Given the description of an element on the screen output the (x, y) to click on. 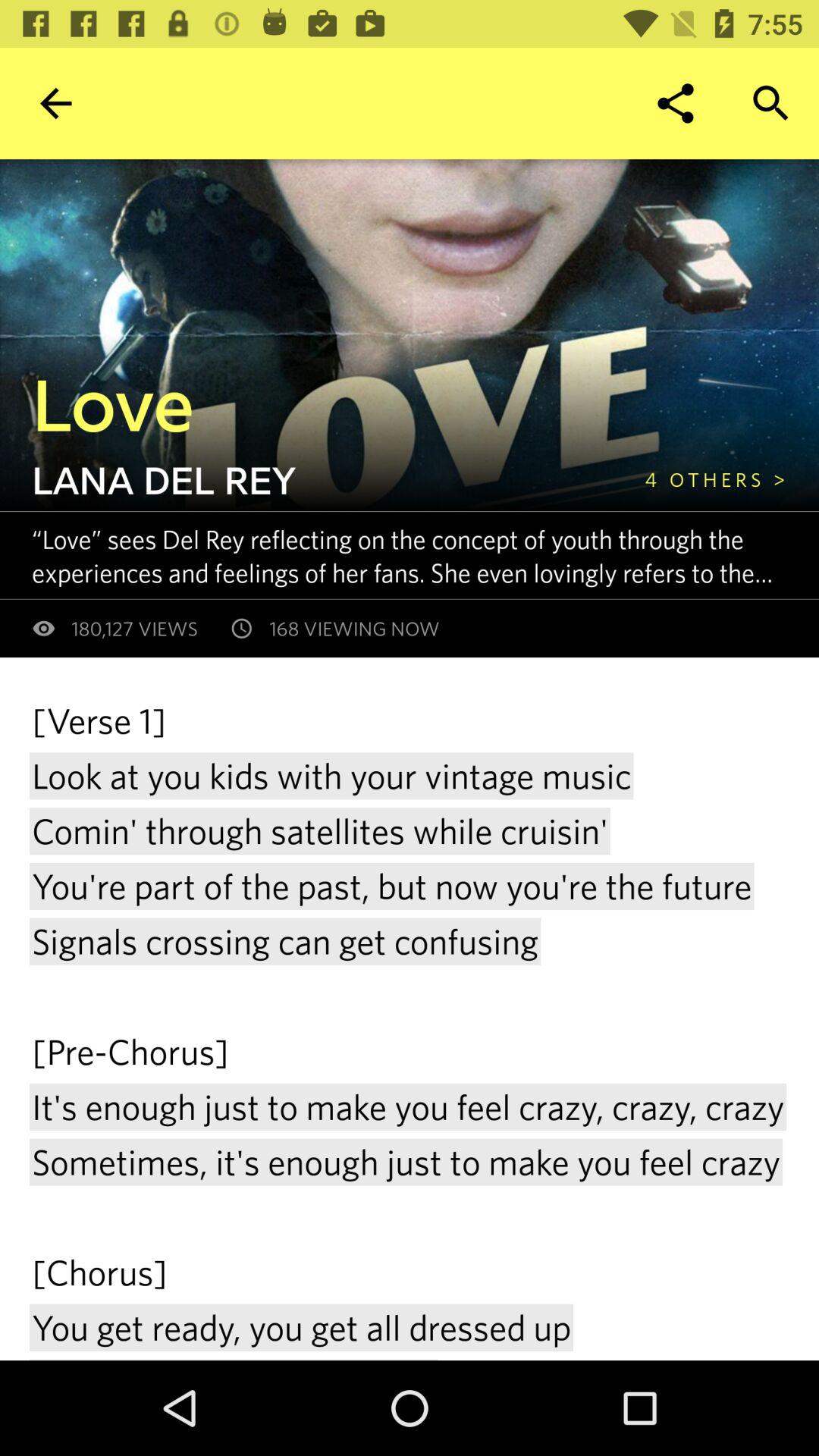
press icon below 180,127 views item (409, 1028)
